Given the description of an element on the screen output the (x, y) to click on. 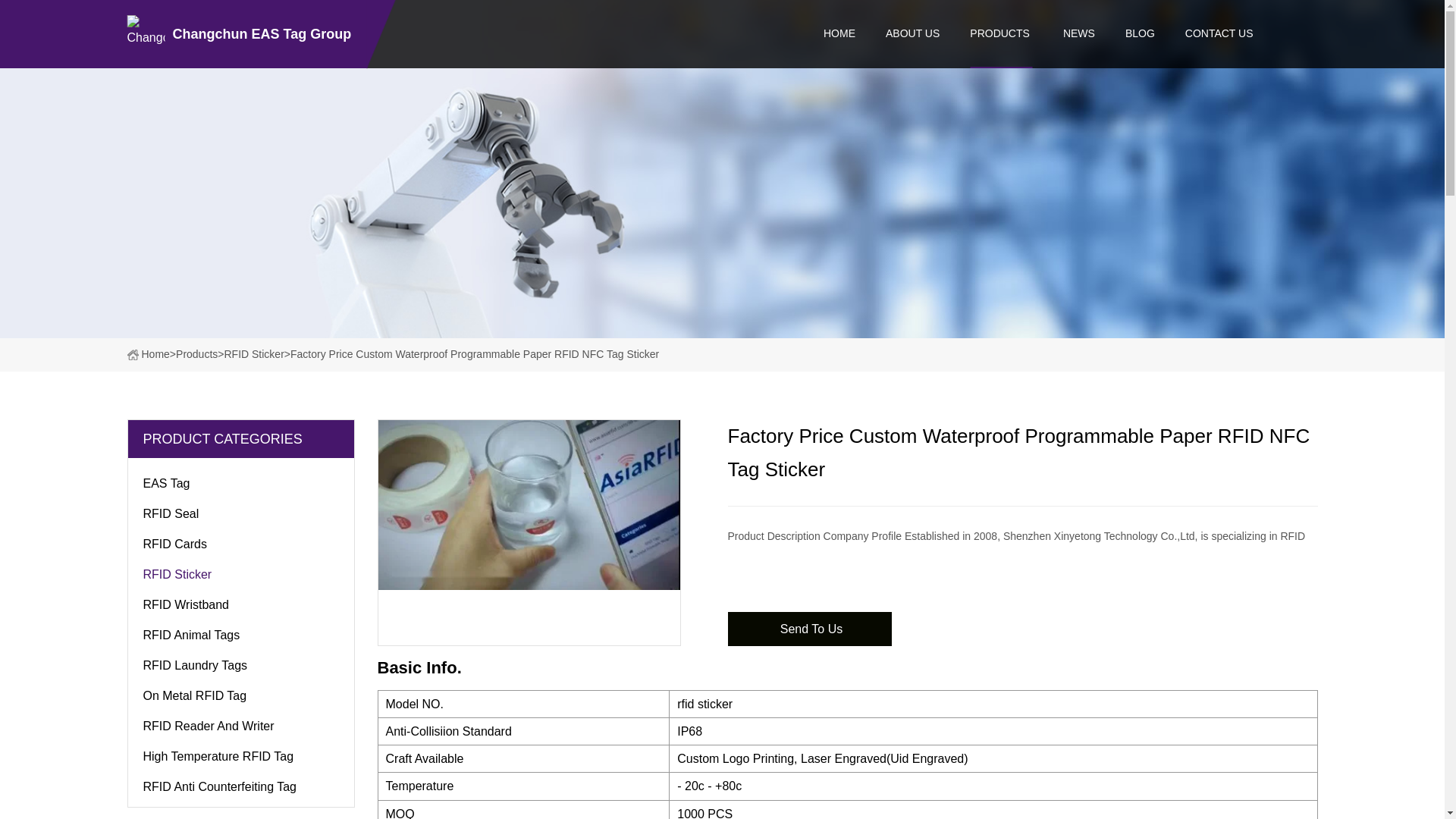
Changchun EAS Tag Group (243, 33)
RFID Reader And Writer (239, 723)
NEWS (1078, 33)
RFID Seal (239, 511)
On Metal RFID Tag (239, 693)
RFID Wristband (239, 602)
RFID Animal Tags (239, 632)
EAS Tag (239, 481)
BLOG (1139, 33)
Home (149, 354)
HOME (840, 33)
RFID Sticker (239, 571)
ABOUT US (912, 33)
Changchun EAS Tag Group (243, 33)
RFID Cards (239, 541)
